Given the description of an element on the screen output the (x, y) to click on. 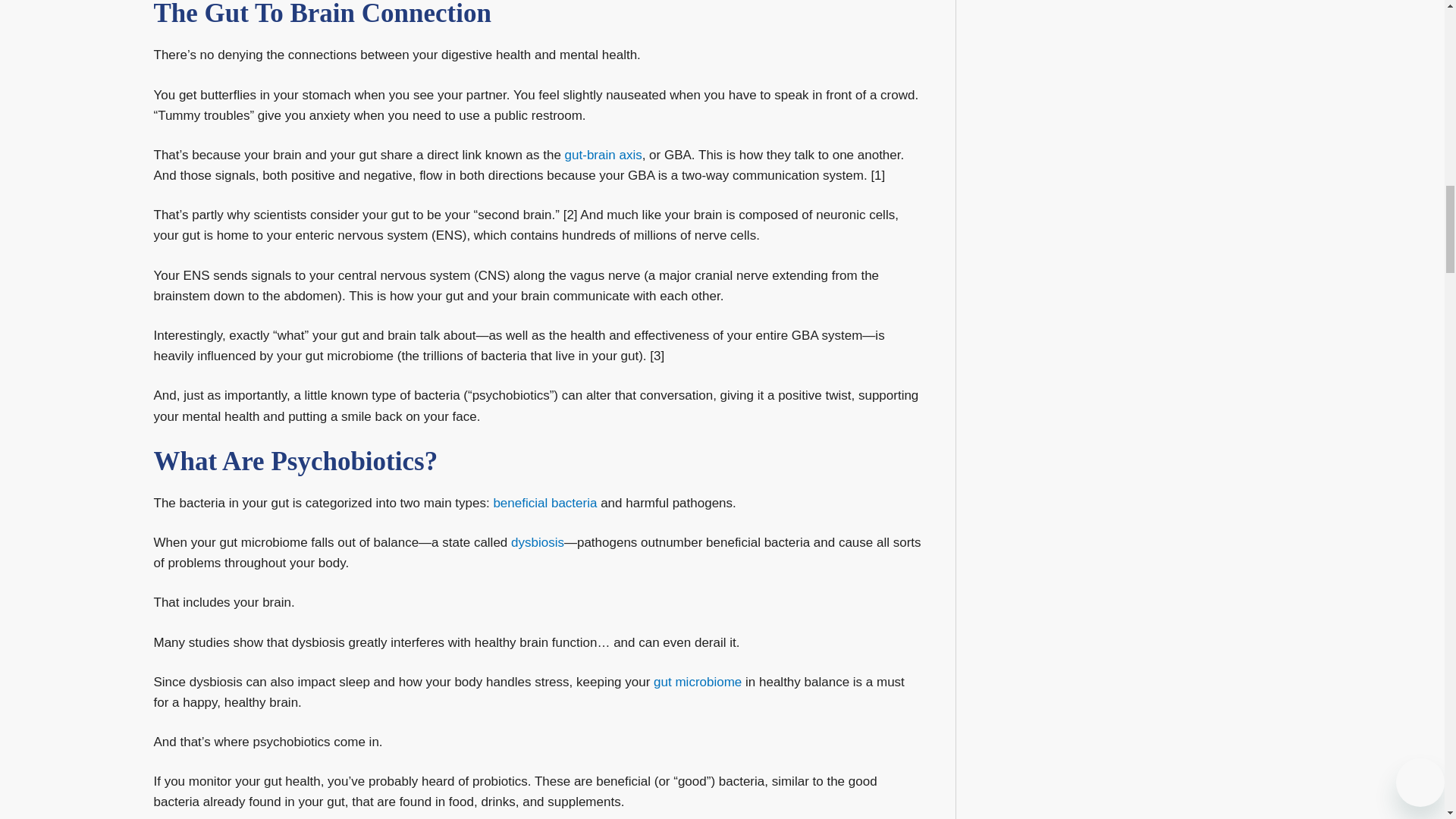
gut brain connection (603, 155)
dysbiosis (537, 542)
beneficial bacteria (544, 503)
gut microbiome (697, 681)
